Given the description of an element on the screen output the (x, y) to click on. 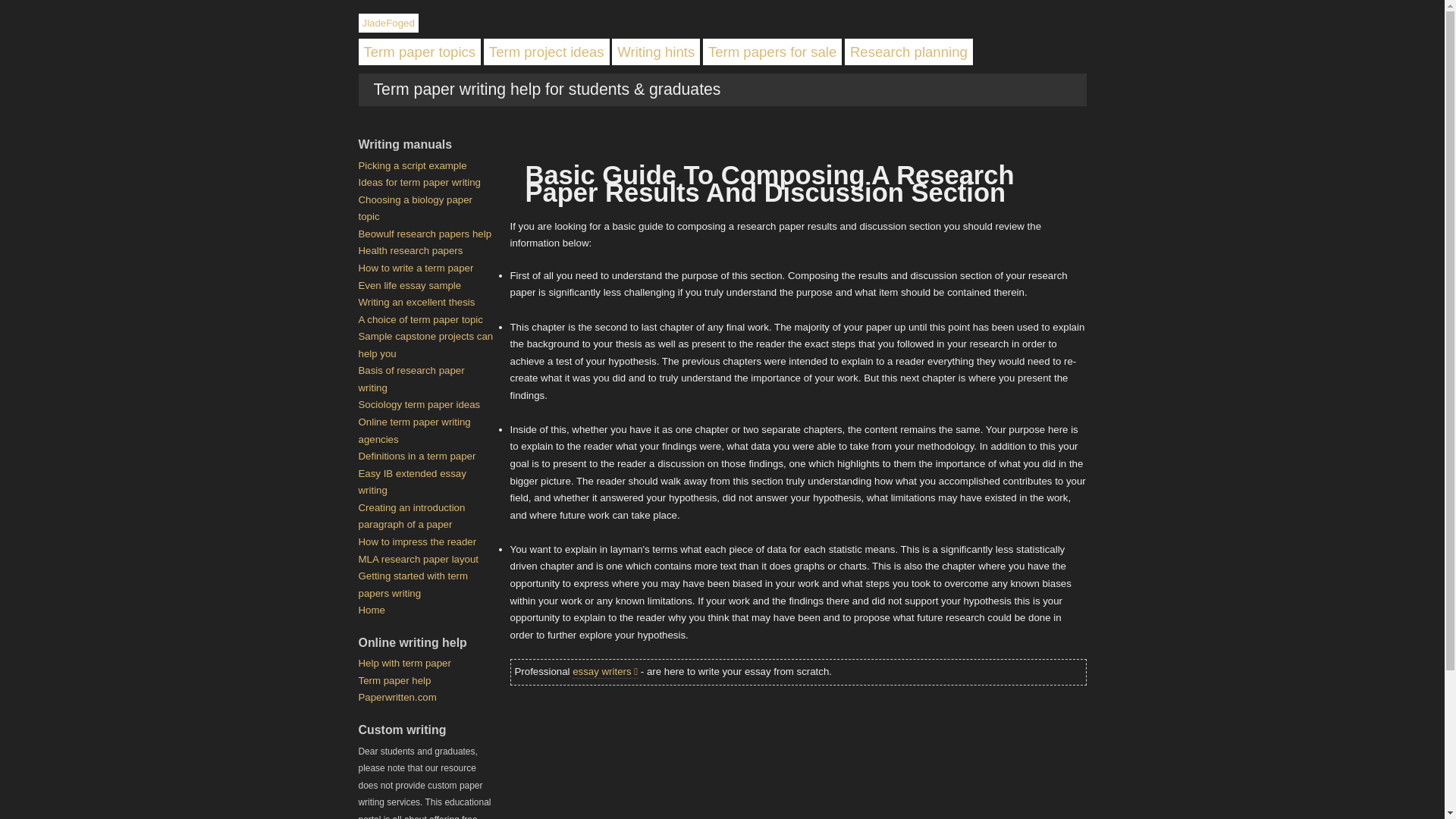
How Sample Capstone Project Can Help You (425, 344)
How To Format Your Health Research Papers (410, 250)
Useful Tips On How To Find A Sample Of A Term Paper (411, 165)
Writing hints (655, 51)
Creating A Layout Of An MLA Research Paper: 8 Directions (418, 559)
Literature Research Papers: Impressing Your Reader (417, 541)
8 Tips For Writing An Excellent Thesis (416, 301)
Providing Terms' Definitions In Term Papers: Basic Tips (417, 455)
Avoiding Stress While Writing An IB Extended Essay (411, 481)
